Given the description of an element on the screen output the (x, y) to click on. 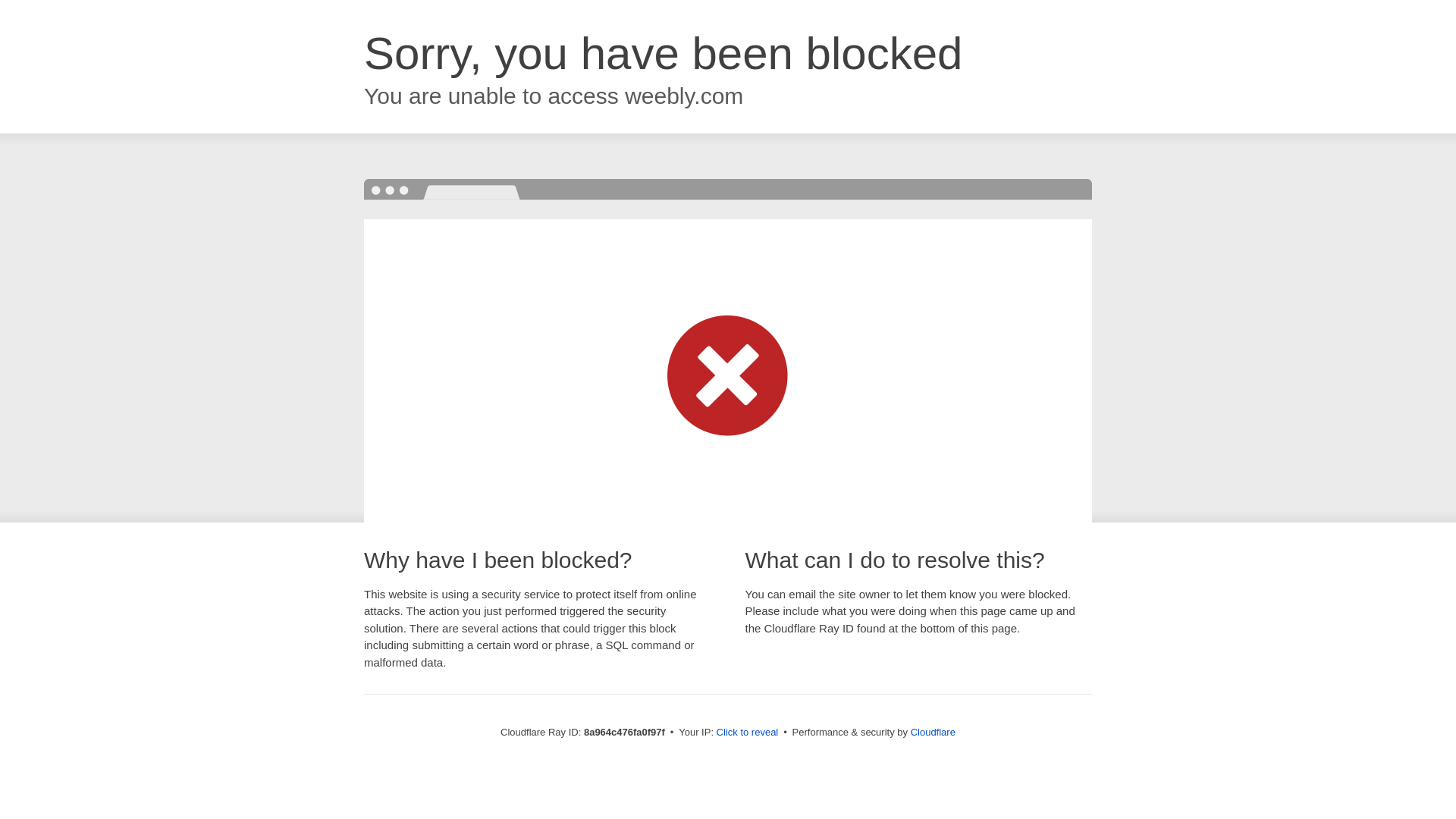
Click to reveal (747, 732)
Cloudflare (933, 731)
